Given the description of an element on the screen output the (x, y) to click on. 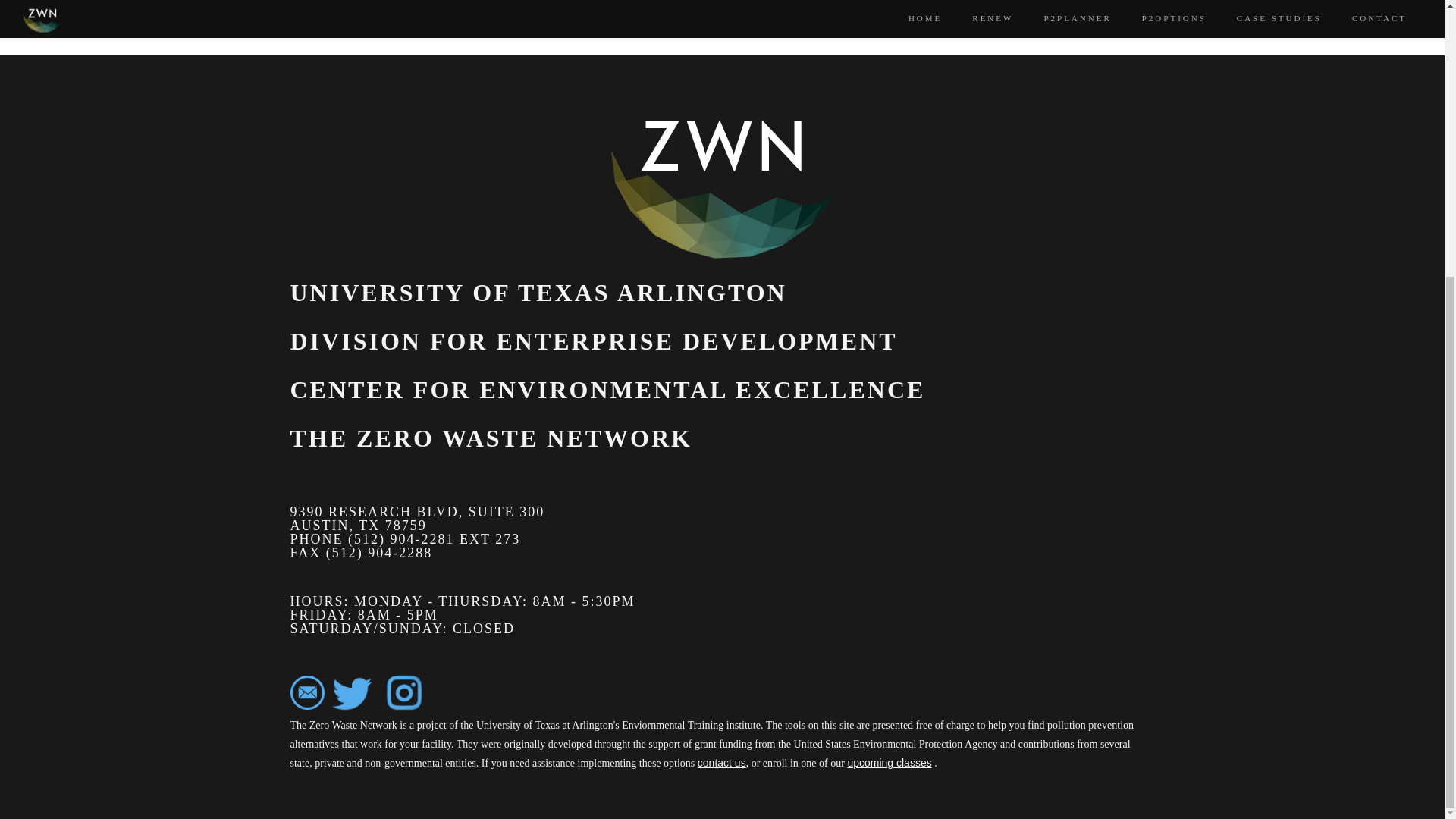
Find Options for other processes (386, 5)
upcoming classes (889, 762)
contact us (721, 762)
